Given the description of an element on the screen output the (x, y) to click on. 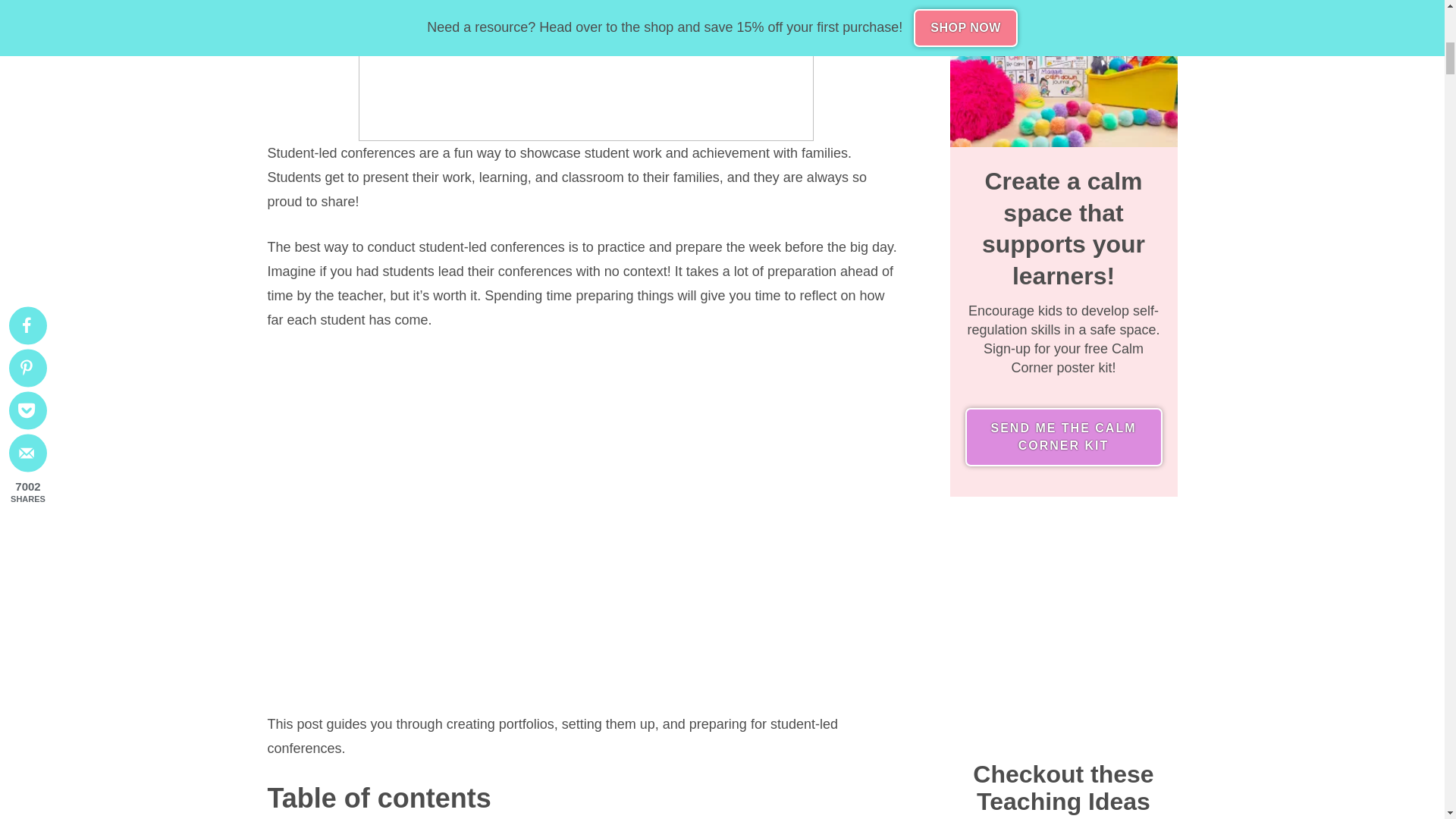
Student Portfolios - Preparing for Student-Led Conferences (585, 70)
